Given the description of an element on the screen output the (x, y) to click on. 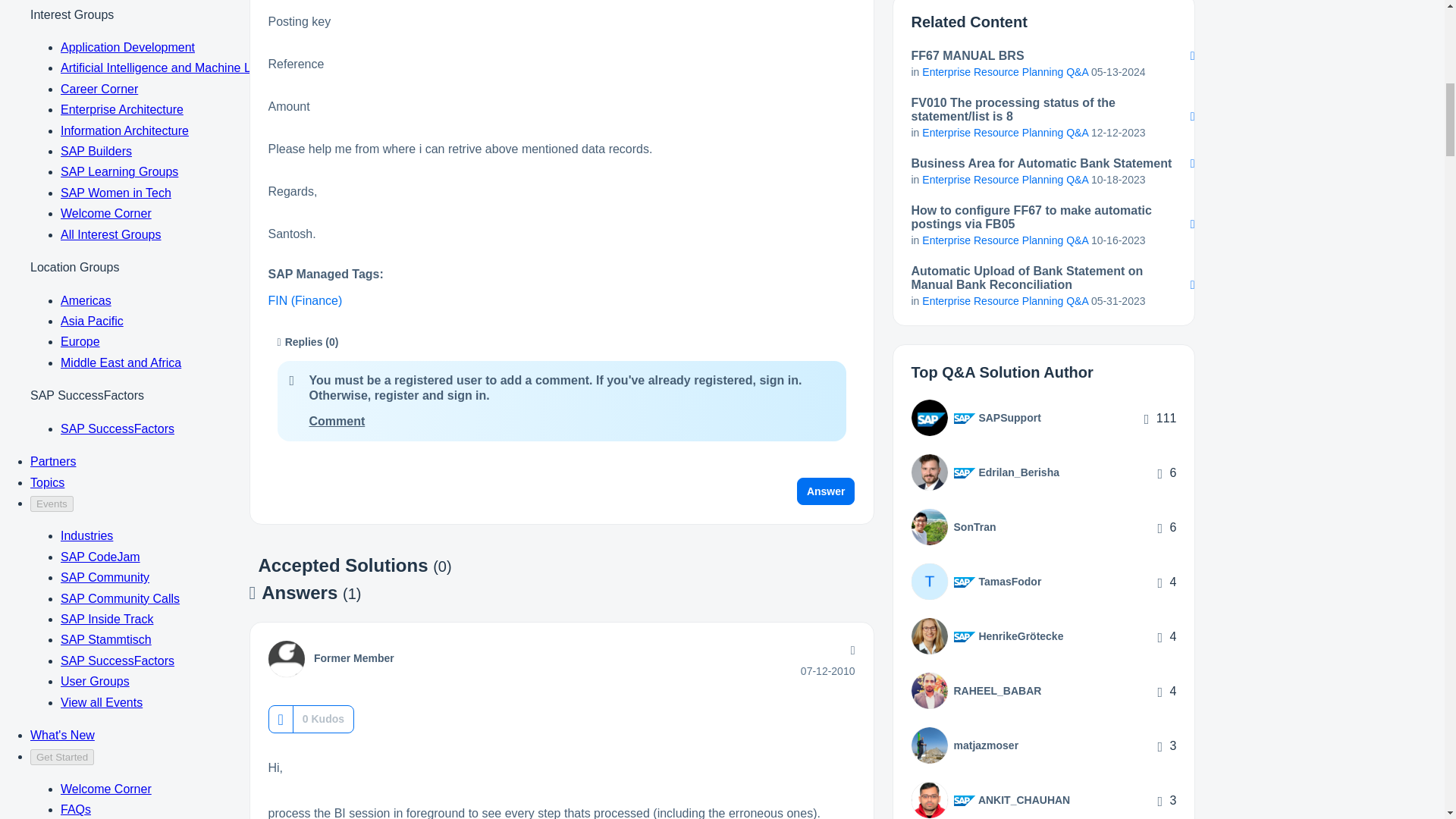
Posted on (828, 671)
Answer (826, 491)
Comment (336, 420)
The total number of kudos this post has received. (323, 718)
